Given the description of an element on the screen output the (x, y) to click on. 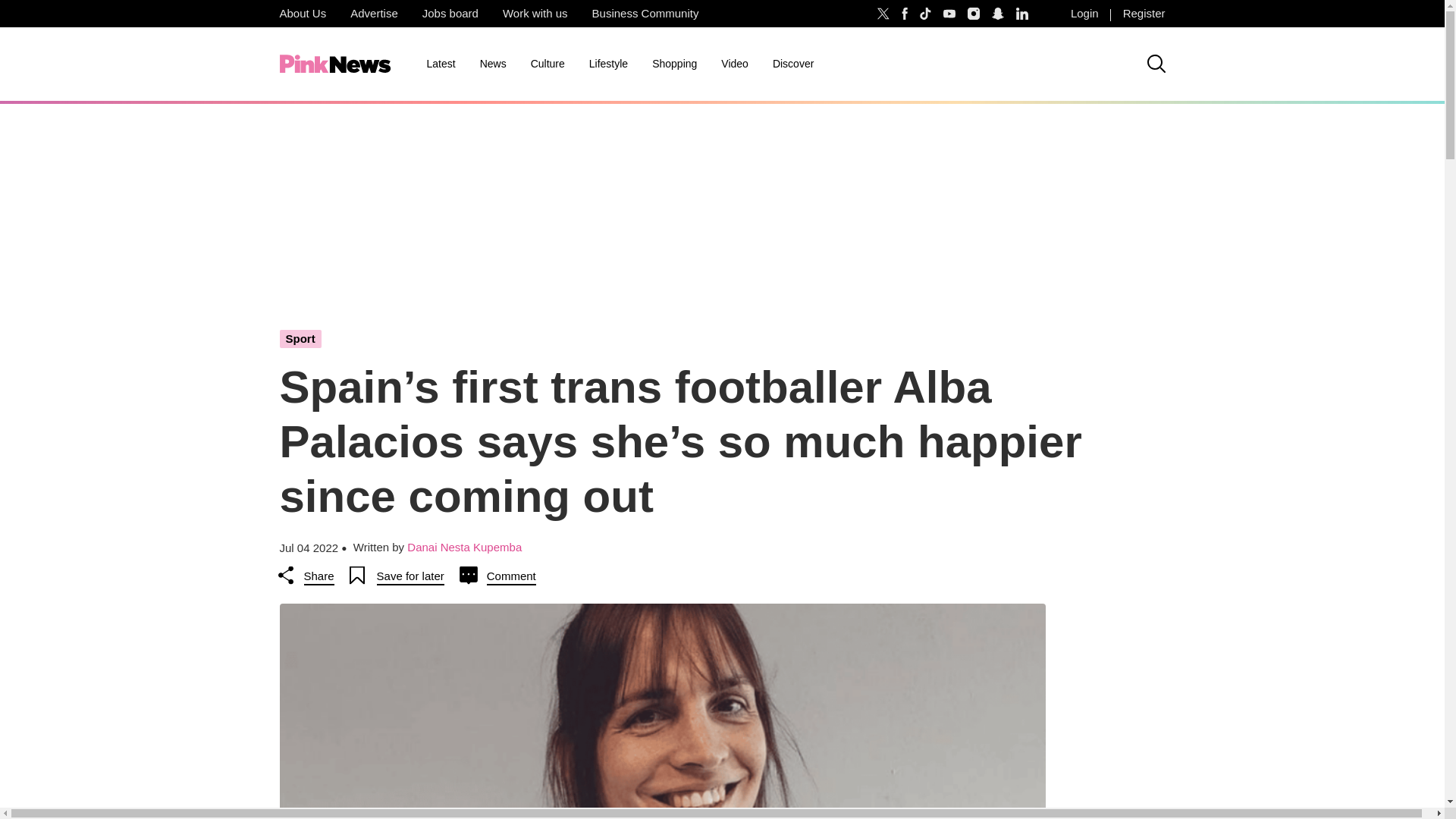
Latest (440, 63)
Register (1143, 13)
News (493, 63)
Login (1084, 13)
Advertise (373, 13)
Jobs board (450, 13)
Culture (547, 63)
Work with us (534, 13)
Lifestyle (608, 63)
Business Community (645, 13)
About Us (301, 13)
Follow PinkNews on LinkedIn (1021, 13)
